Given the description of an element on the screen output the (x, y) to click on. 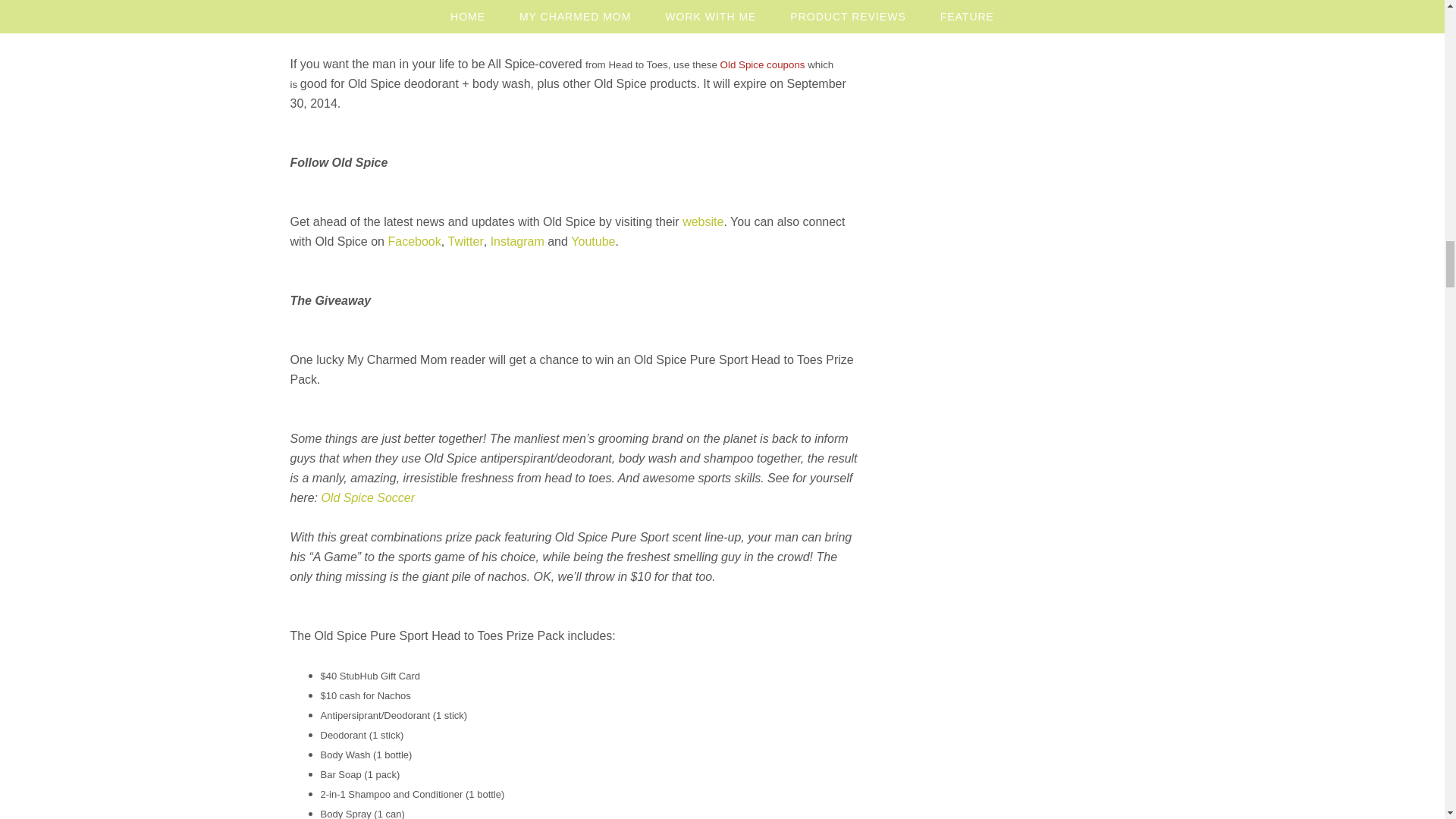
Old Spice Soccer (367, 497)
Instagram (517, 241)
Facebook (414, 241)
Youtube (592, 241)
website (702, 221)
Old Spice coupons (762, 64)
Twitter (465, 241)
